Given the description of an element on the screen output the (x, y) to click on. 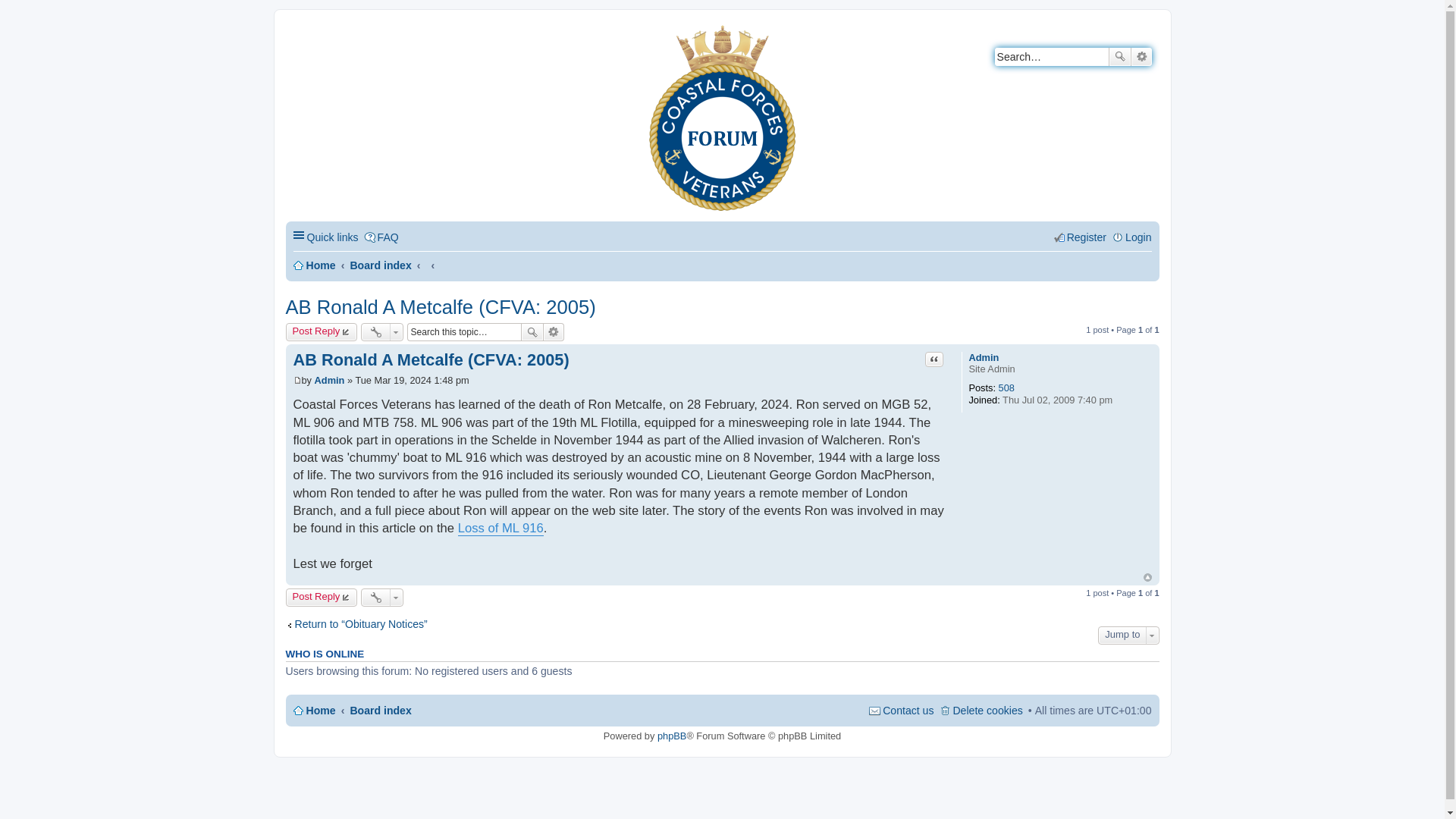
Post Reply (320, 597)
Register (1079, 237)
Search (532, 331)
Quick links (325, 237)
Advanced search (1141, 56)
Admin (983, 357)
Search (1119, 56)
Board index (379, 265)
Login (1131, 237)
Advanced search (553, 331)
Topic tools (382, 331)
Advanced search (553, 331)
508 (1006, 387)
Reply with quote (933, 359)
Home (298, 34)
